Given the description of an element on the screen output the (x, y) to click on. 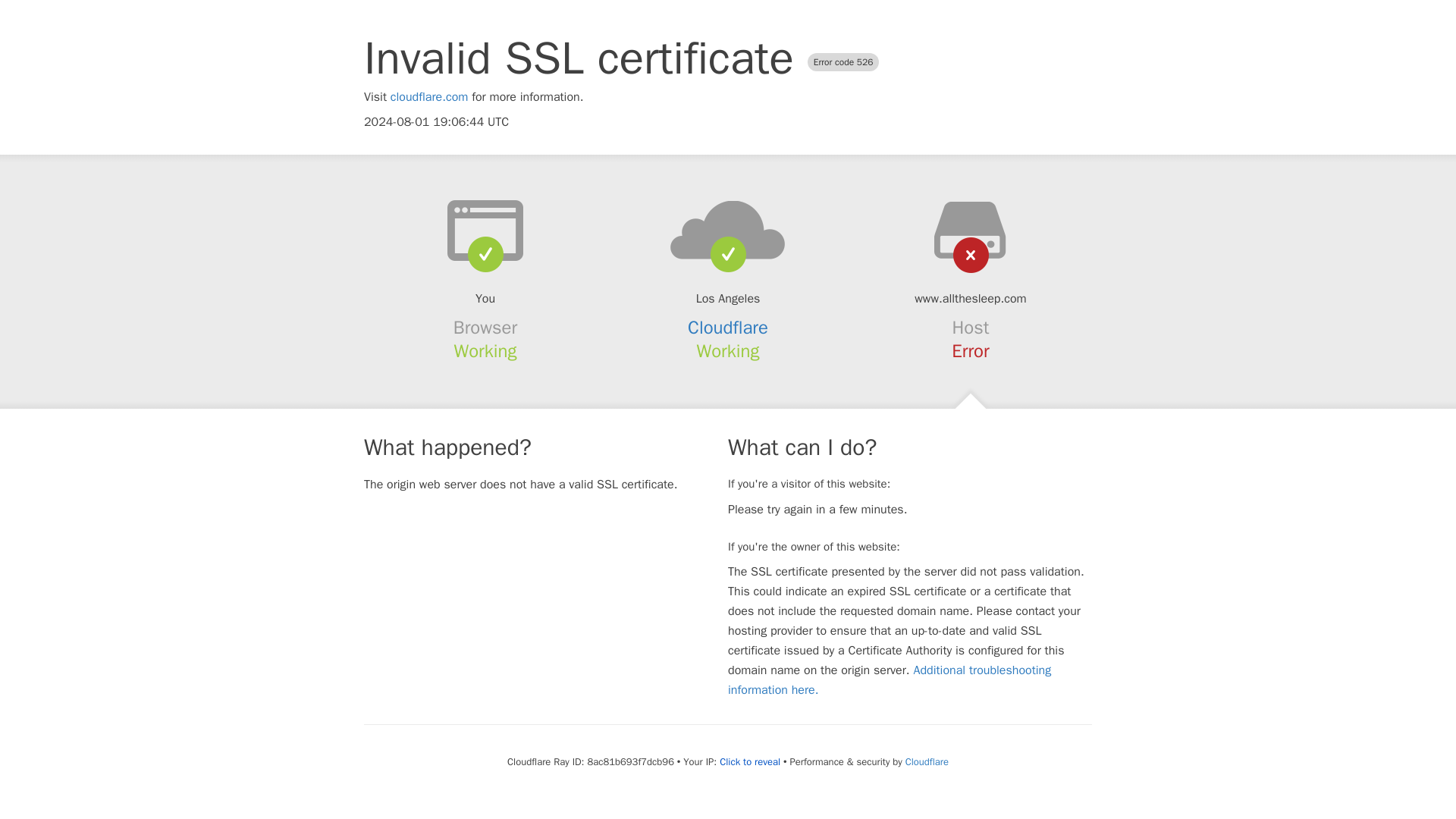
Additional troubleshooting information here. (889, 679)
Click to reveal (749, 762)
Cloudflare (727, 327)
cloudflare.com (429, 96)
Cloudflare (927, 761)
